Given the description of an element on the screen output the (x, y) to click on. 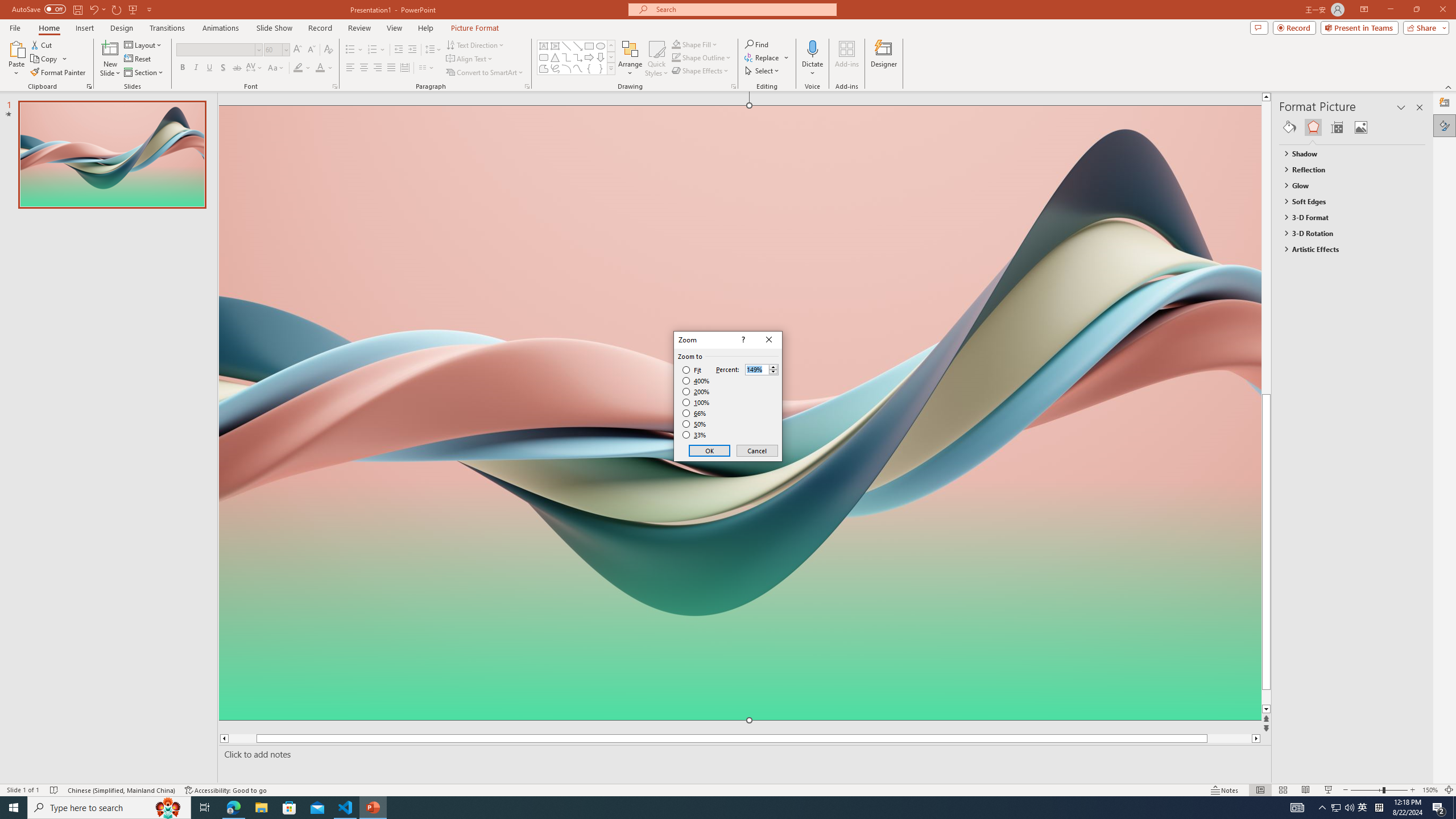
Search highlights icon opens search home window (167, 807)
Class: NetUIScrollBar (1420, 460)
Task View (204, 807)
Tray Input Indicator - Chinese (Simplified, China) (1378, 807)
Visual Studio Code - 1 running window (345, 807)
Left Brace (589, 68)
Format Painter (58, 72)
Rectangle (589, 45)
Shape Effects (700, 69)
Freeform: Shape (543, 68)
200% (696, 391)
Rectangle: Rounded Corners (543, 57)
